Given the description of an element on the screen output the (x, y) to click on. 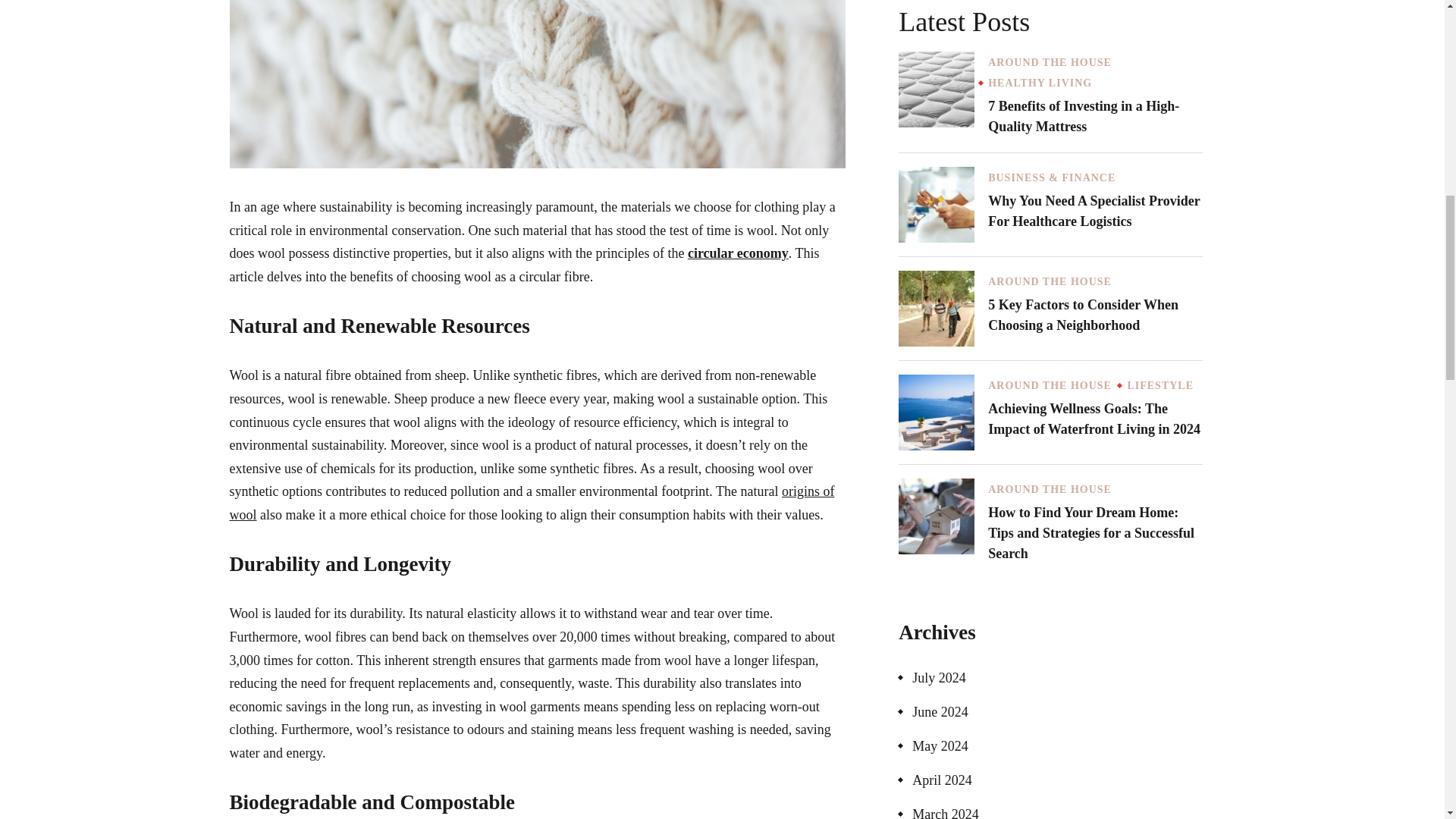
circular economy (738, 253)
origins of wool (531, 503)
